Given the description of an element on the screen output the (x, y) to click on. 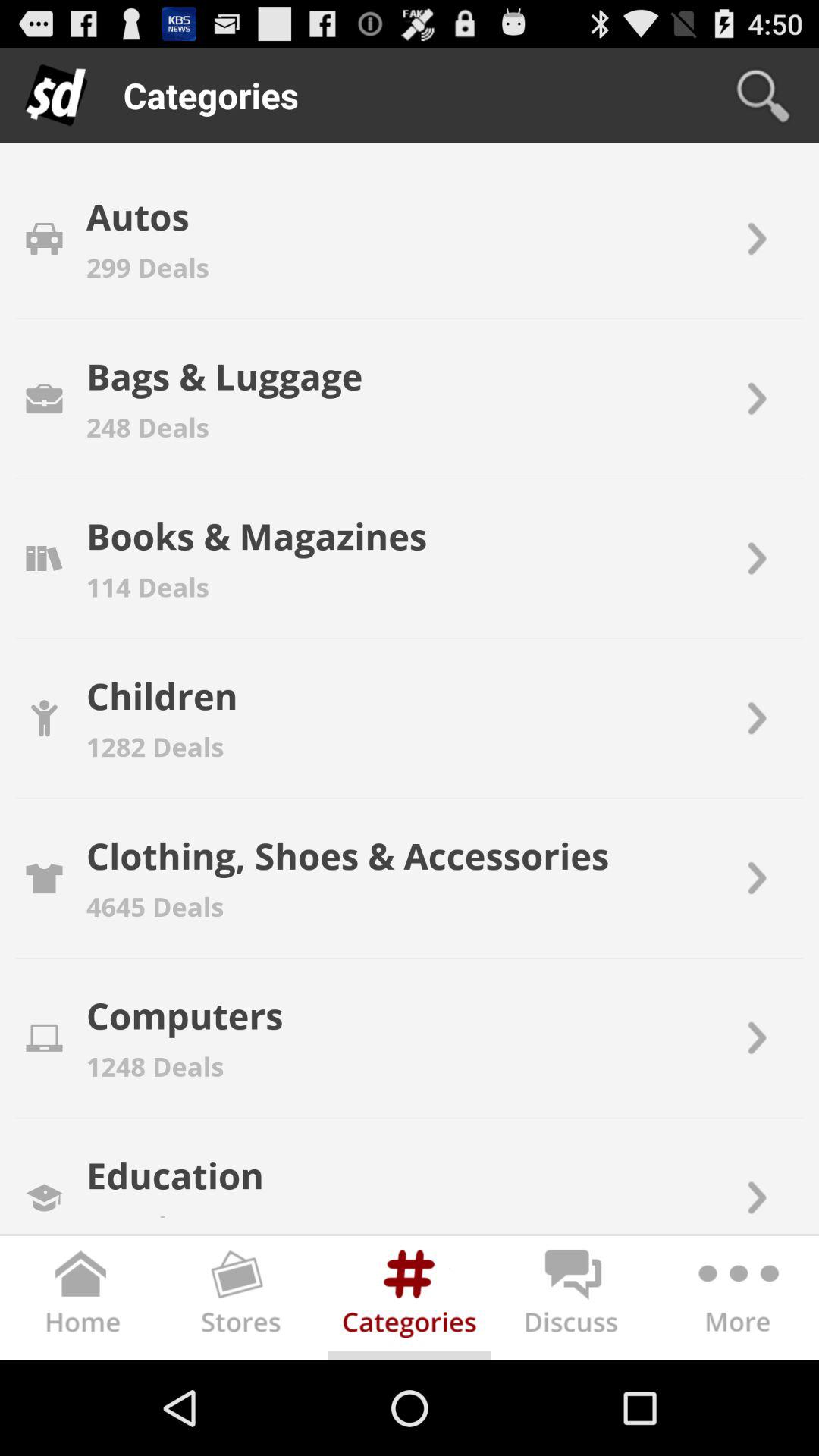
open discussion (573, 1301)
